Given the description of an element on the screen output the (x, y) to click on. 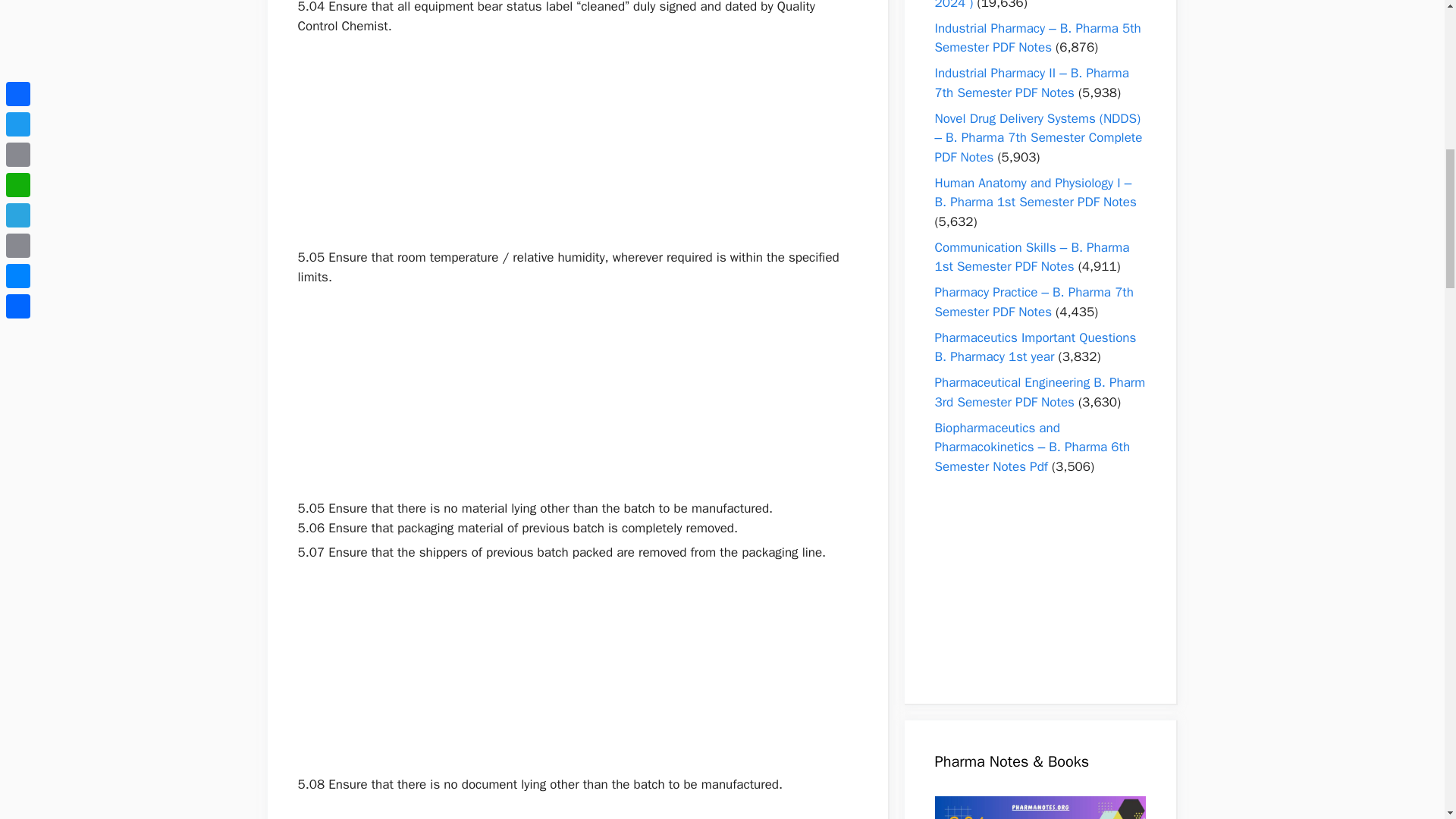
Advertisement (576, 806)
Advertisement (576, 142)
Advertisement (576, 668)
Advertisement (576, 392)
